Given the description of an element on the screen output the (x, y) to click on. 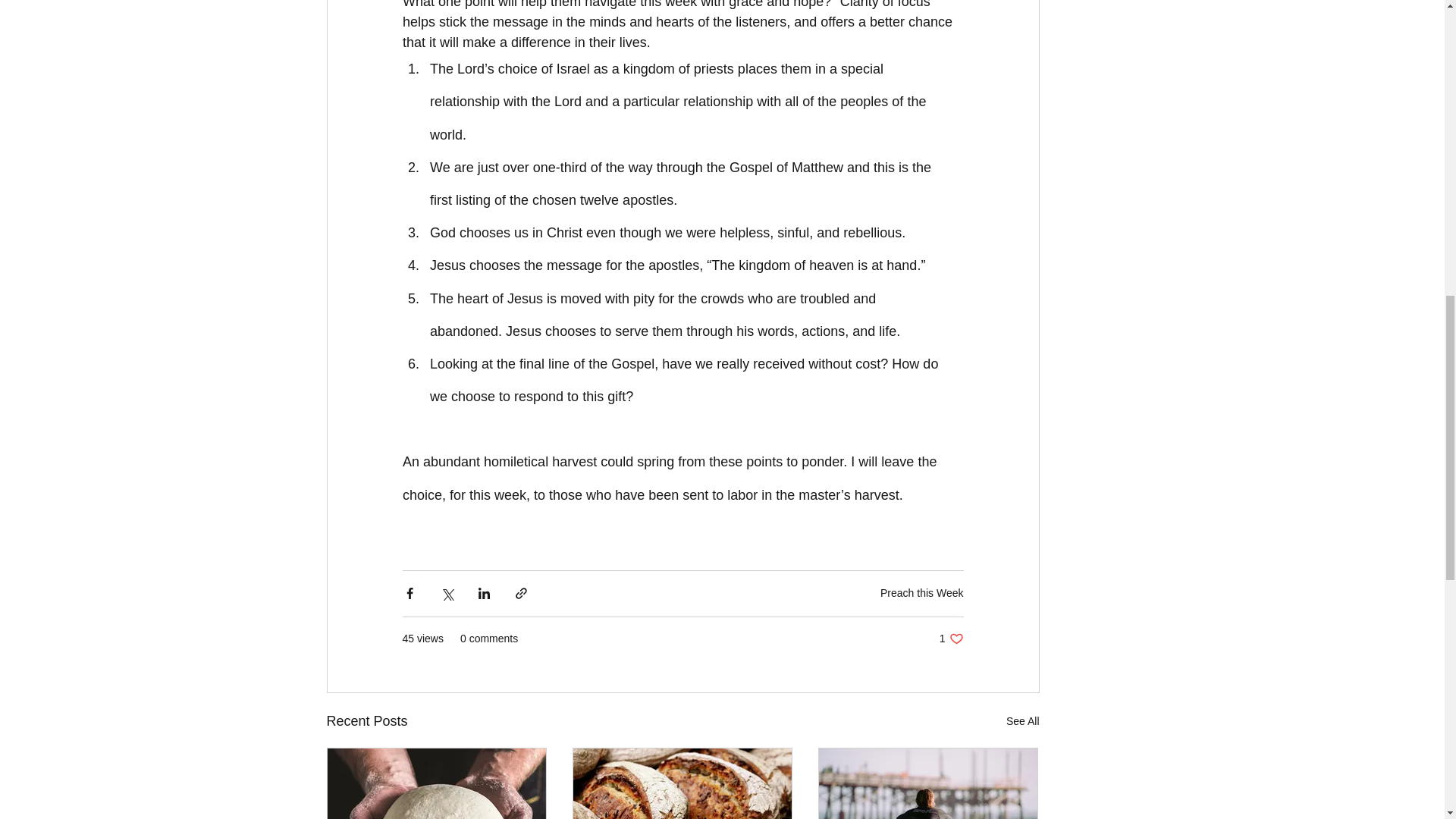
See All (1022, 721)
Preach this Week (951, 638)
